Given the description of an element on the screen output the (x, y) to click on. 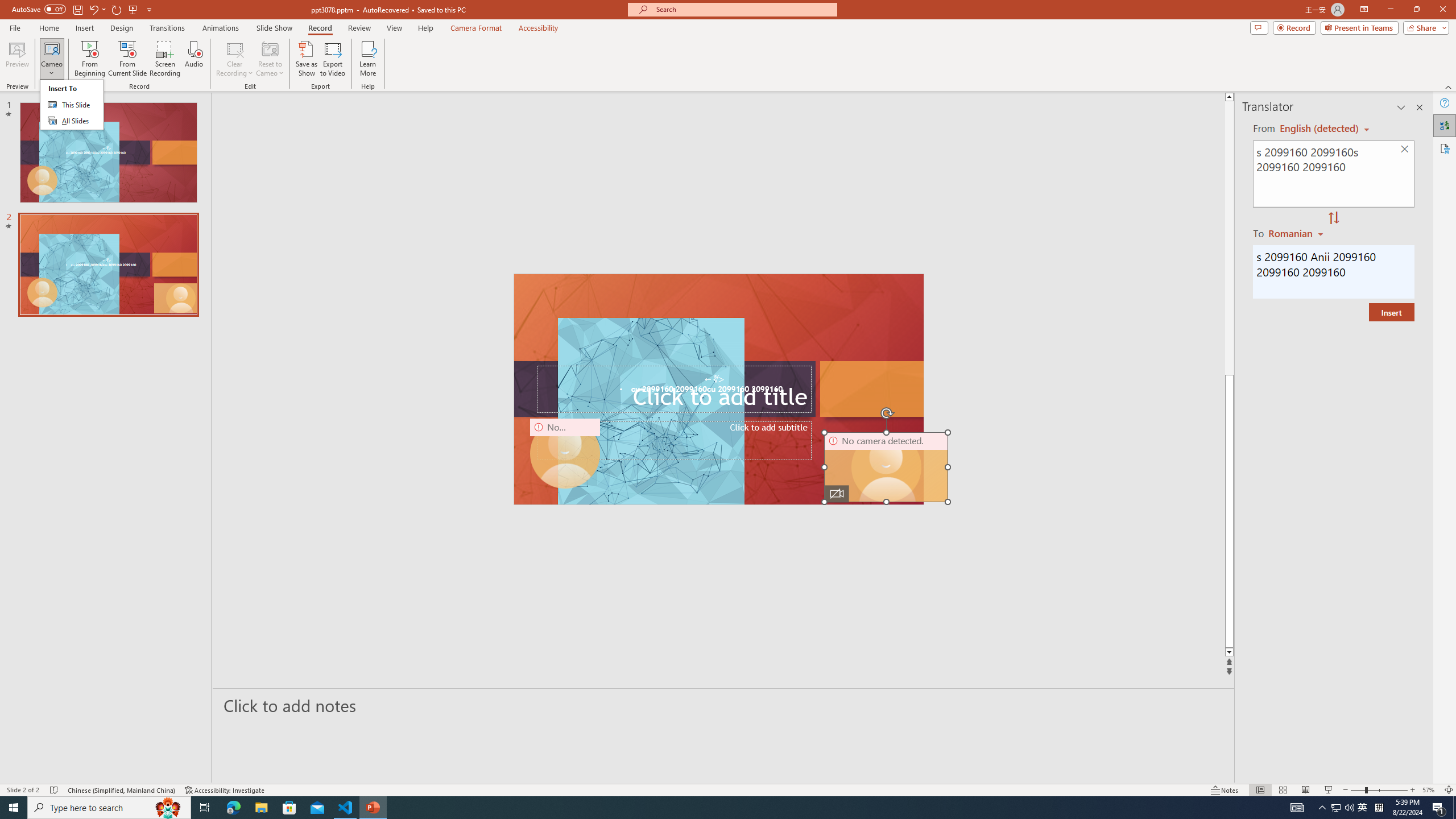
Running applications (707, 807)
TextBox 7 (713, 379)
Learn More (368, 58)
Audio (193, 58)
